Given the description of an element on the screen output the (x, y) to click on. 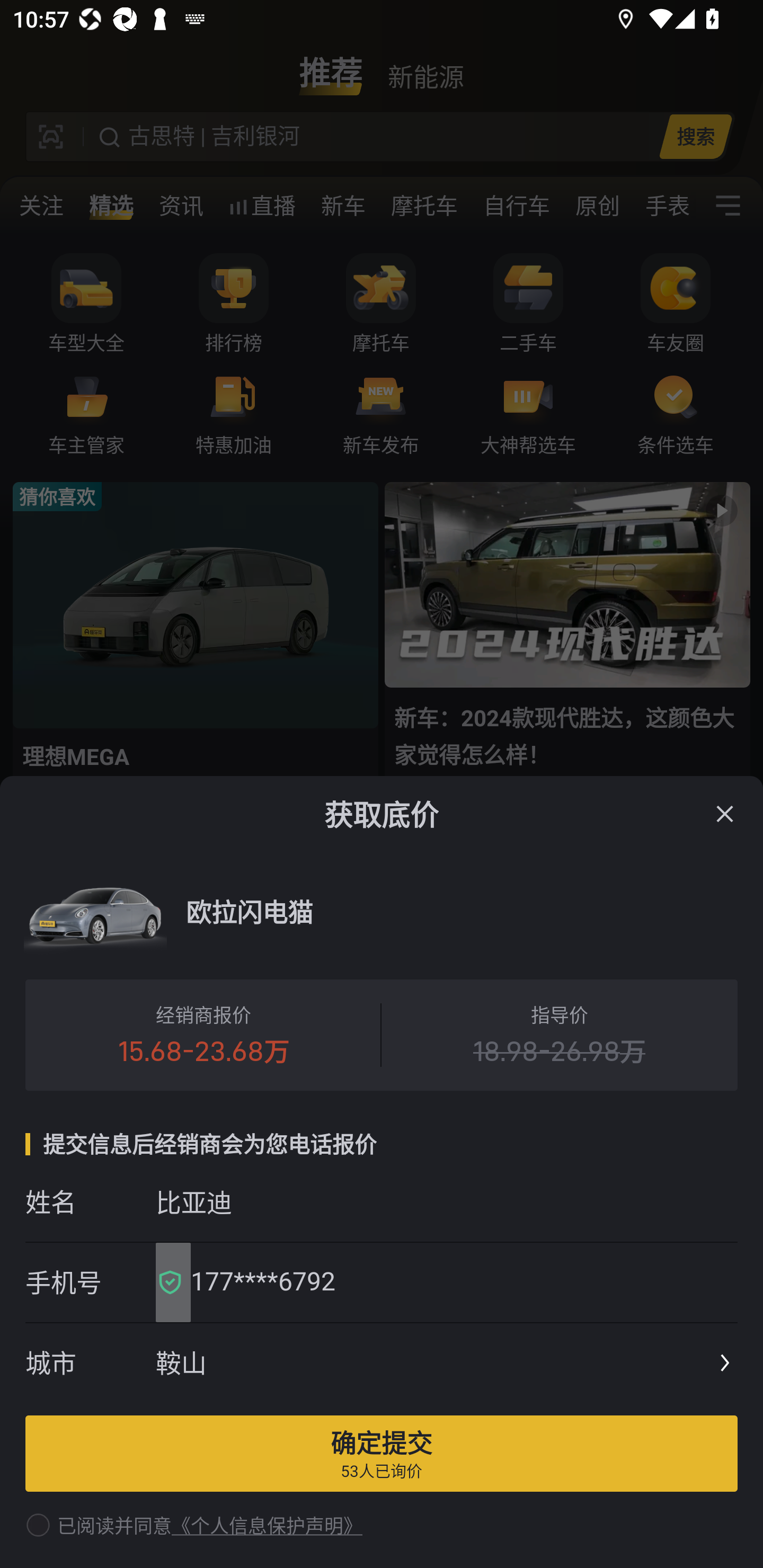
 (724, 813)
姓名 (90, 1201)
比亚迪 (446, 1201)
手机号 (90, 1282)
177****6792 (457, 1282)
城市 鞍山  (381, 1363)
确定提交 53人已询价 (381, 1453)
